Given the description of an element on the screen output the (x, y) to click on. 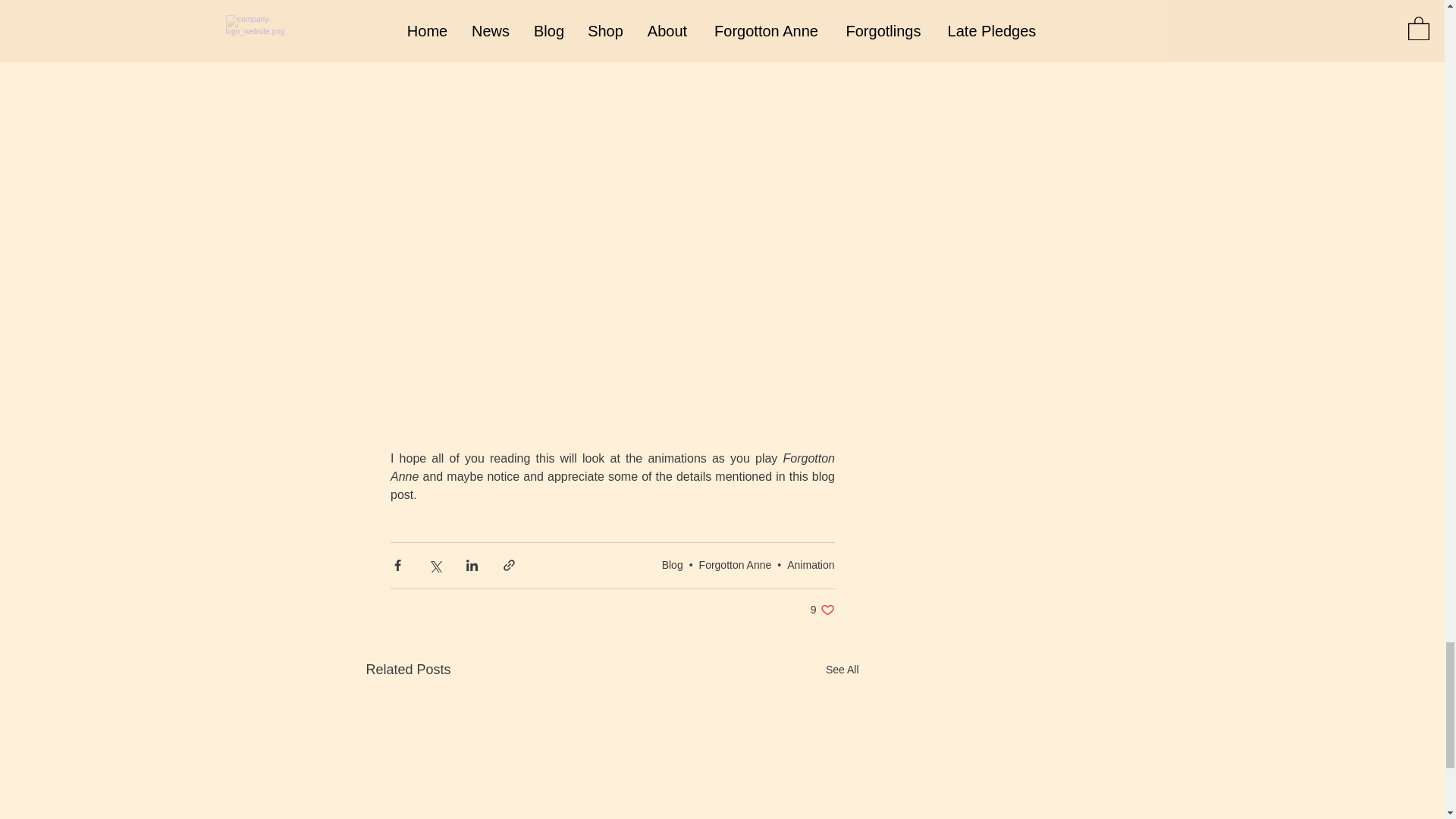
Blog (672, 564)
See All (842, 669)
Animation (810, 564)
Forgotton Anne (734, 564)
